Given the description of an element on the screen output the (x, y) to click on. 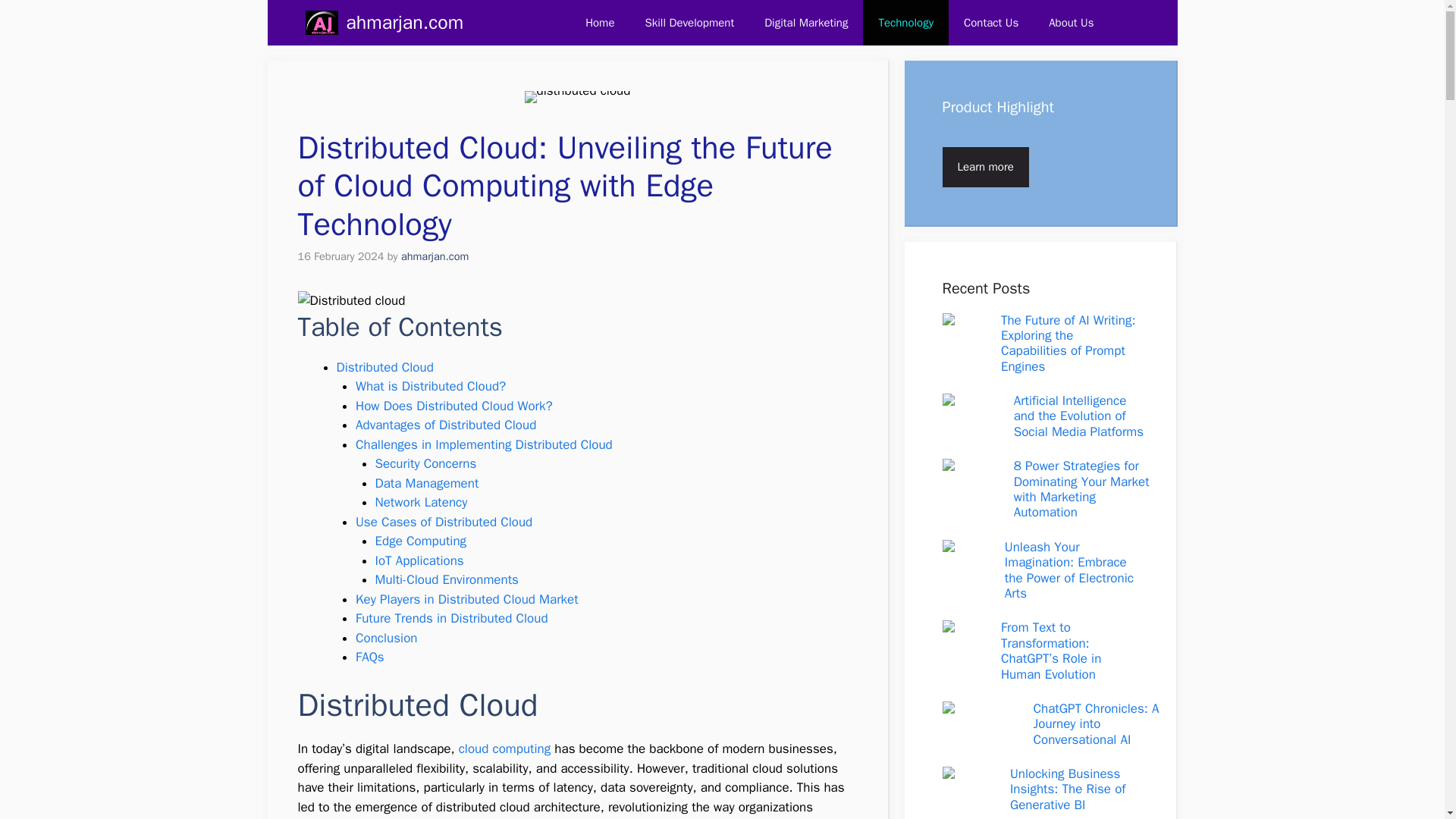
Distributed Cloud (384, 367)
Use Cases of Distributed Cloud (443, 521)
Conclusion (385, 637)
FAQs (369, 657)
What is Distributed Cloud? (430, 385)
cloud computing (504, 748)
Digital Marketing (806, 22)
Technology (906, 22)
Edge Computing (419, 540)
IoT Applications (418, 560)
Future Trends in Distributed Cloud (451, 618)
Home (599, 22)
Network Latency (420, 502)
How Does Distributed Cloud Work? (454, 406)
View all posts by ahmarjan.com (434, 255)
